Given the description of an element on the screen output the (x, y) to click on. 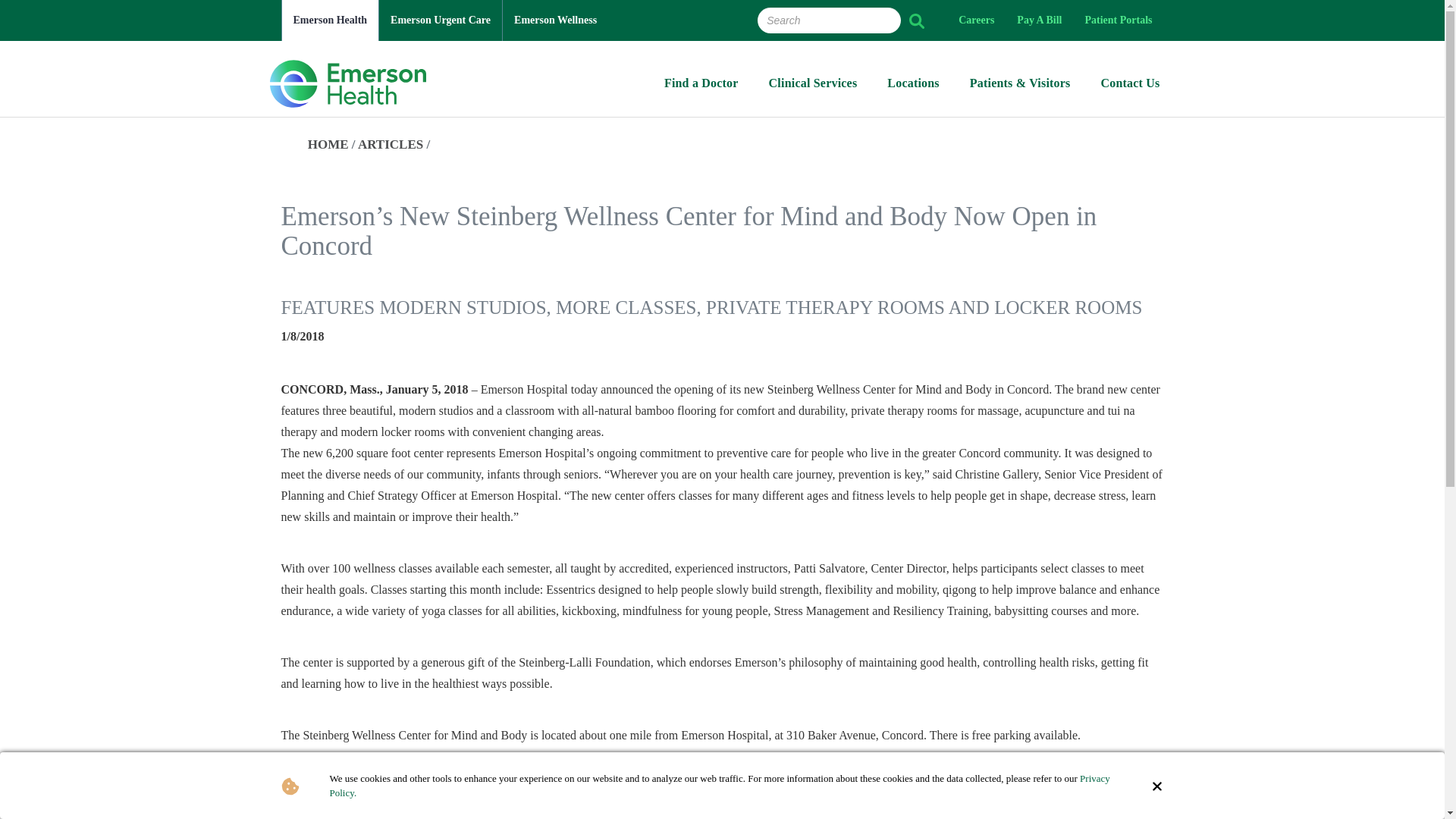
Emerson Urgent Care (440, 20)
Pay A Bill (1039, 20)
Contact Us (1130, 87)
Patient Portals (1118, 20)
Clinical Services (813, 87)
Privacy Policy. (719, 785)
Careers (976, 20)
ARTICLES (390, 144)
Emerson Wellness (555, 20)
Find a Doctor (701, 87)
HOME (328, 144)
Emerson Health (330, 20)
Locations (912, 87)
